Given the description of an element on the screen output the (x, y) to click on. 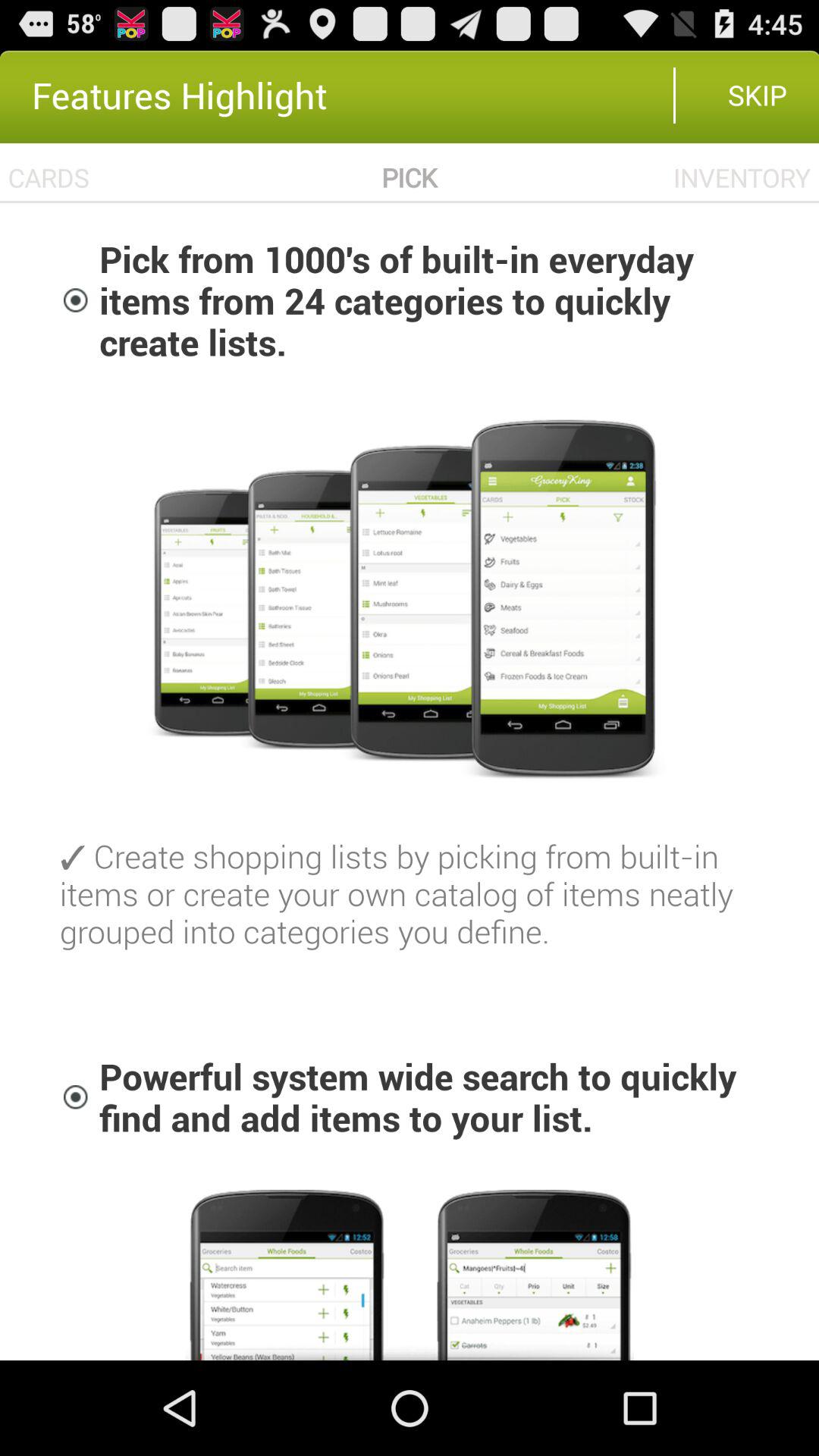
swipe until skip item (757, 95)
